Given the description of an element on the screen output the (x, y) to click on. 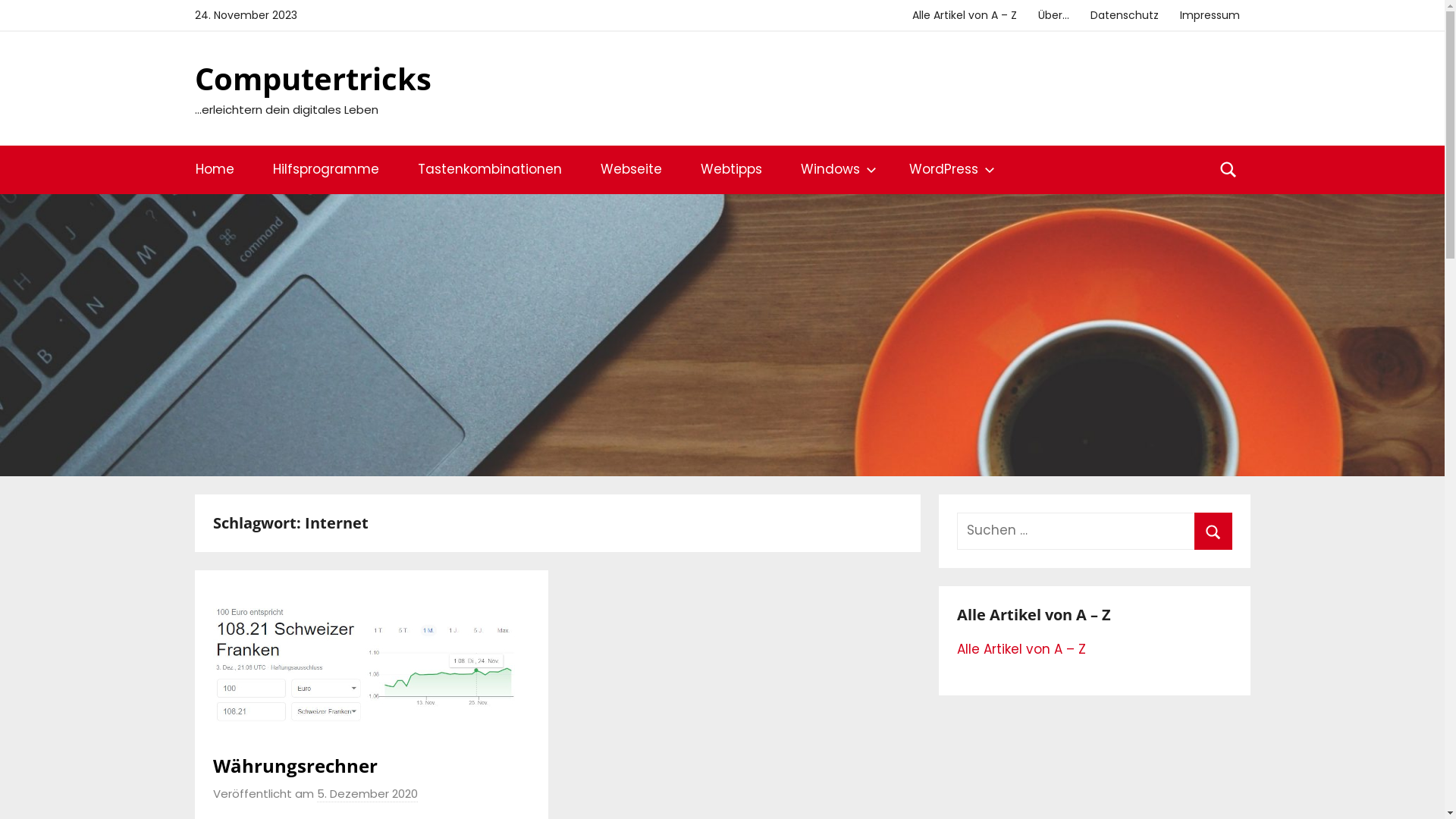
Suchen Element type: text (1212, 530)
WordPress Element type: text (949, 169)
Hilfsprogramme Element type: text (325, 169)
Windows Element type: text (835, 169)
Webtipps Element type: text (730, 169)
Webseite Element type: text (630, 169)
Impressum Element type: text (1209, 15)
Suchen nach: Element type: hover (1094, 530)
Computertricks Element type: text (312, 78)
Tastenkombinationen Element type: text (489, 169)
5. Dezember 2020 Element type: text (366, 793)
Datenschutz Element type: text (1124, 15)
Home Element type: text (214, 169)
